Given the description of an element on the screen output the (x, y) to click on. 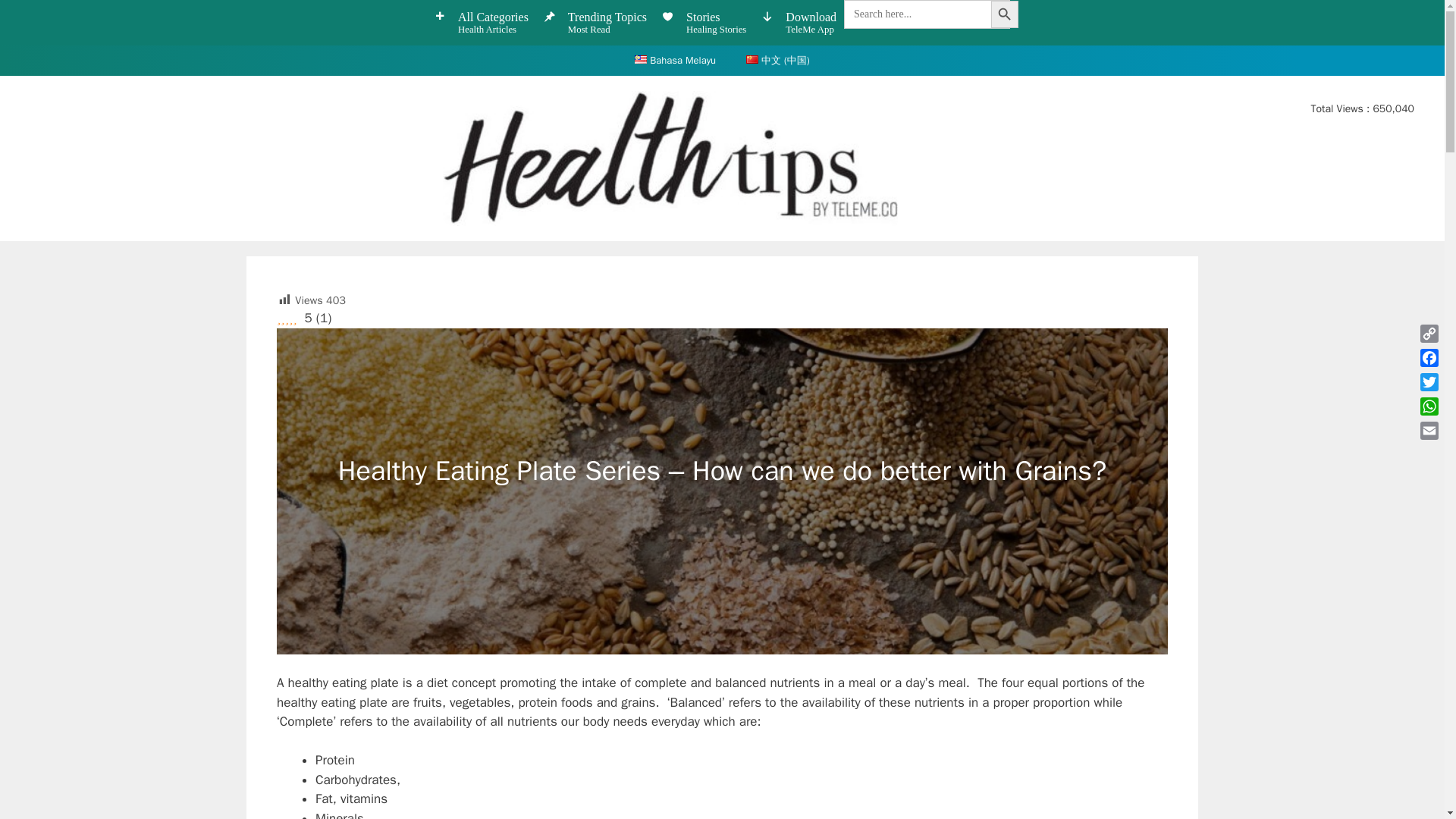
WhatsApp (1428, 405)
Email (1428, 430)
Twitter (1428, 381)
Copy Link (1428, 333)
Facebook (1428, 357)
